Given the description of an element on the screen output the (x, y) to click on. 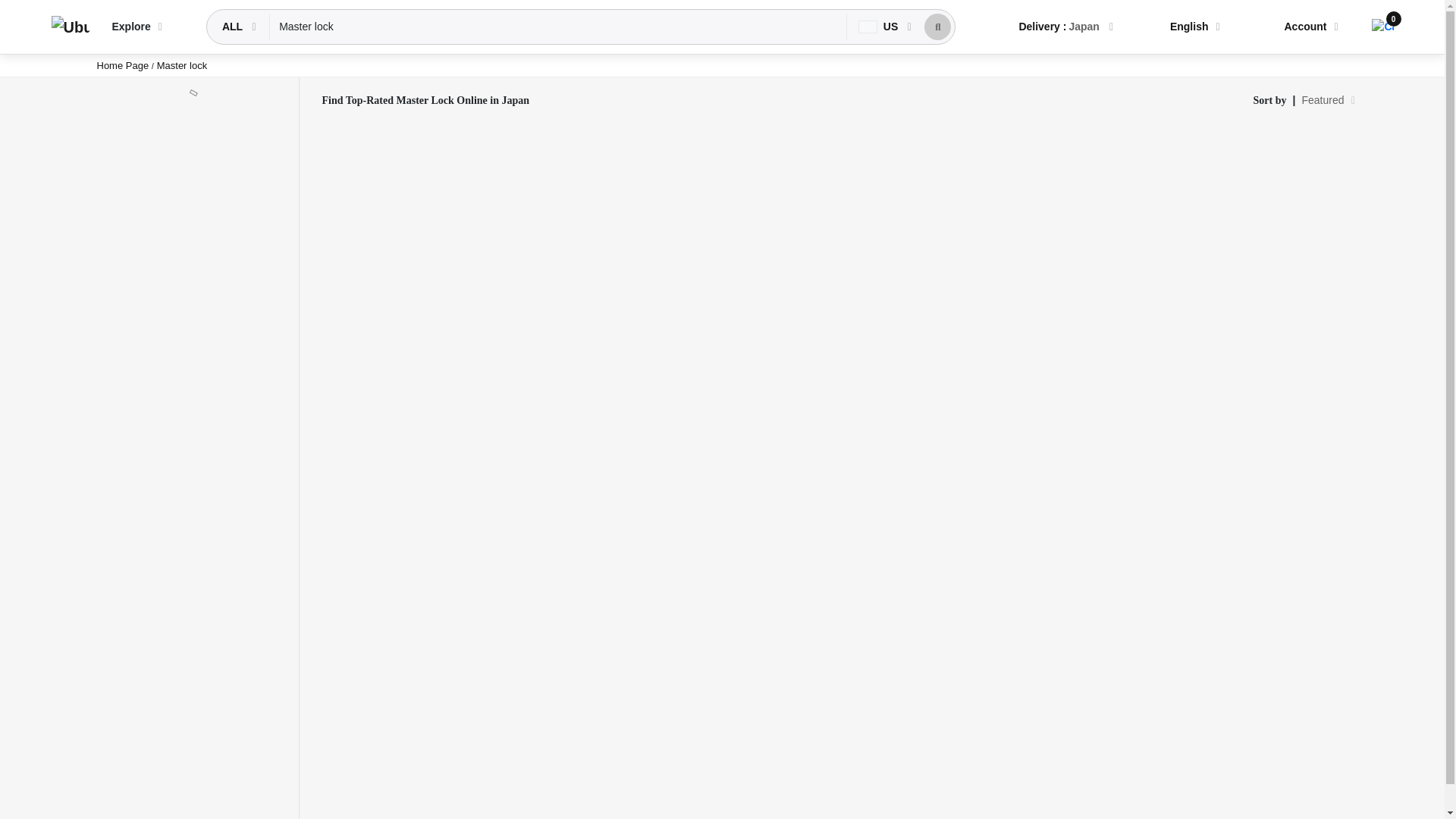
Ubuy (69, 27)
Master lock (558, 26)
US (879, 26)
0 (1382, 27)
ALL (234, 26)
